Given the description of an element on the screen output the (x, y) to click on. 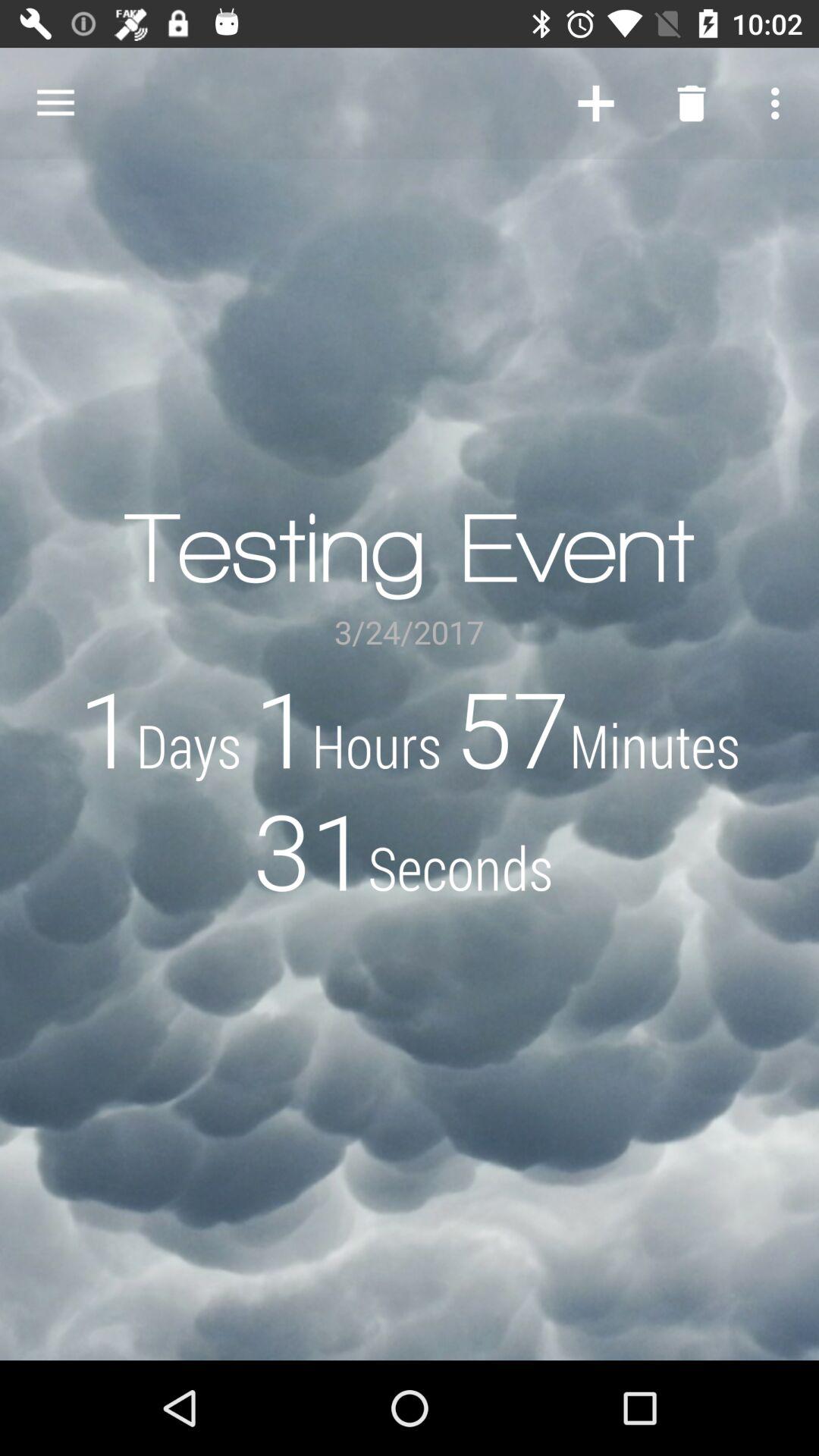
press the item above 1days 1hours 57minutes icon (55, 103)
